Given the description of an element on the screen output the (x, y) to click on. 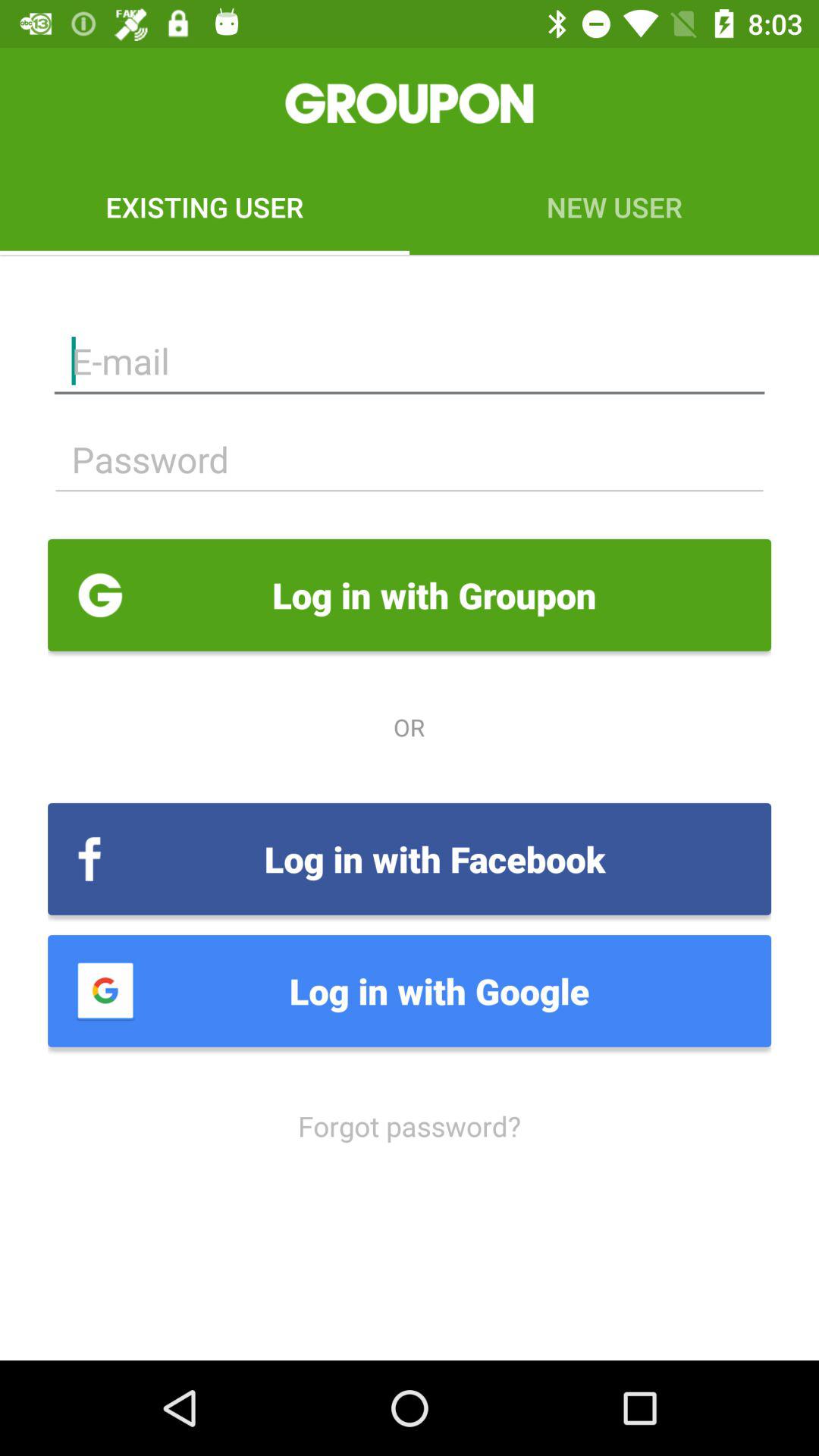
open icon to the right of existing user icon (614, 206)
